Given the description of an element on the screen output the (x, y) to click on. 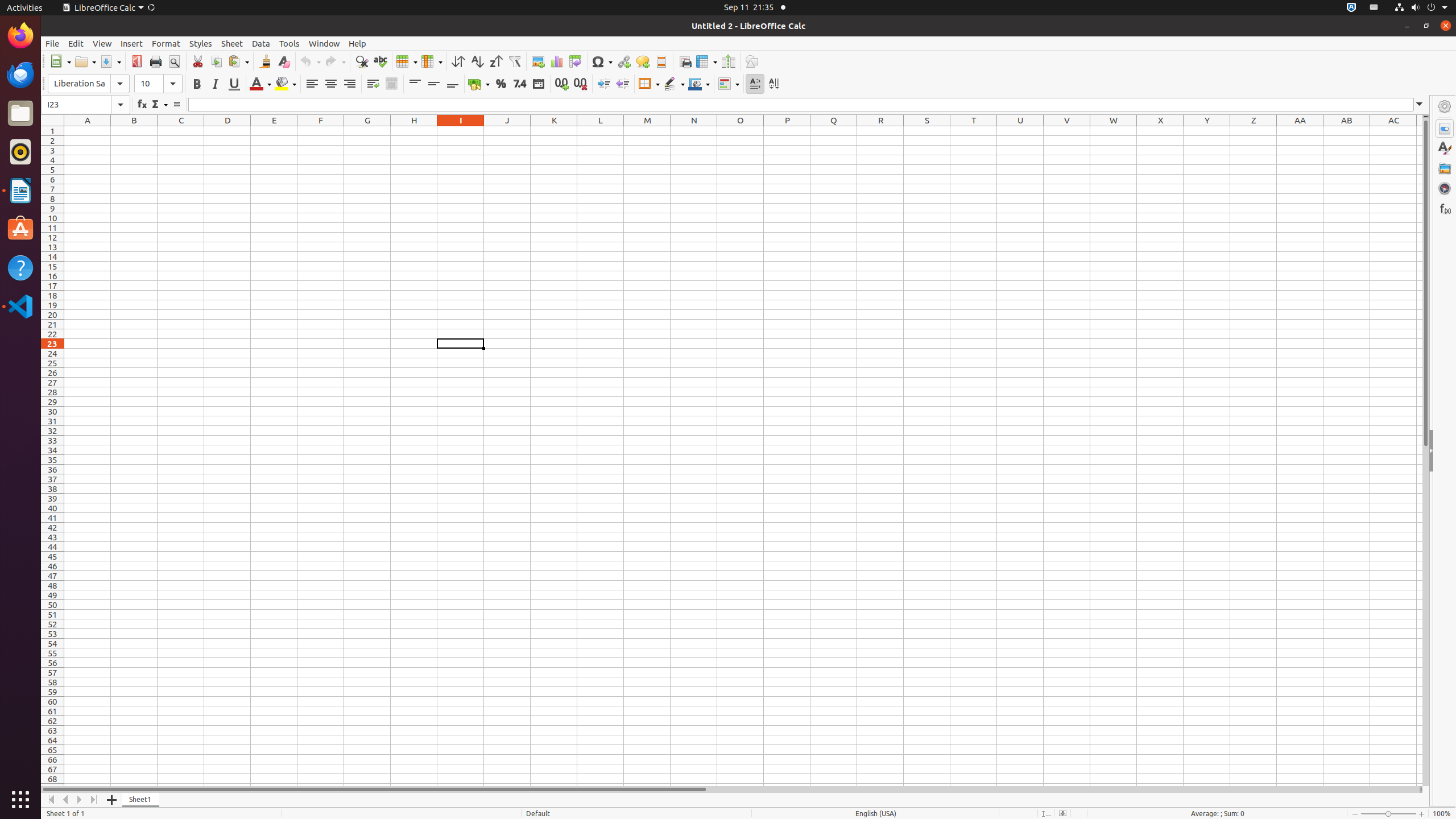
Formula Tool Bar Element type: tool-bar (734, 104)
I1 Element type: table-cell (460, 130)
E1 Element type: table-cell (273, 130)
Spelling Element type: push-button (379, 61)
